Given the description of an element on the screen output the (x, y) to click on. 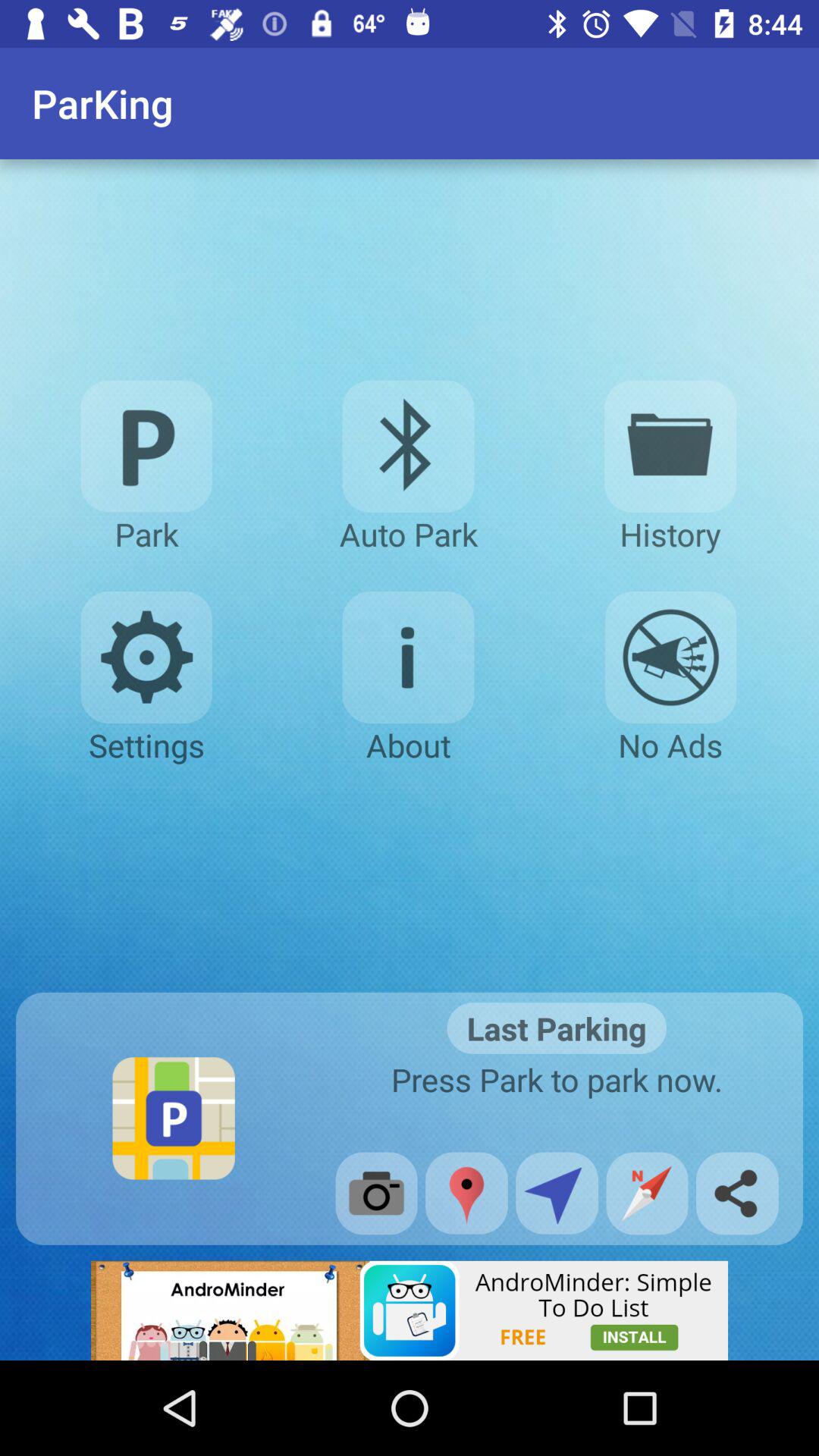
tells information (408, 657)
